Given the description of an element on the screen output the (x, y) to click on. 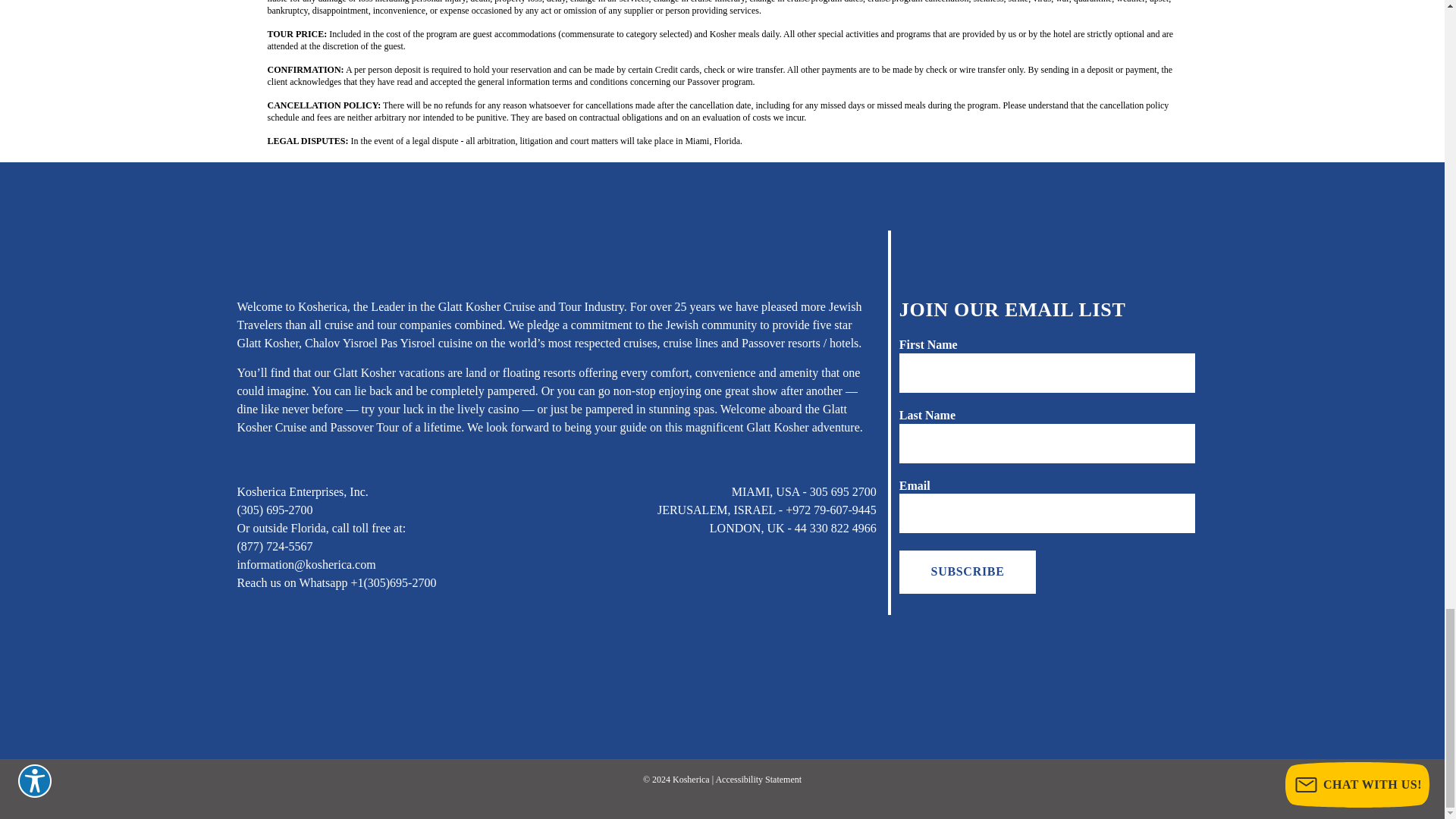
SUBSCRIBE (967, 571)
